Given the description of an element on the screen output the (x, y) to click on. 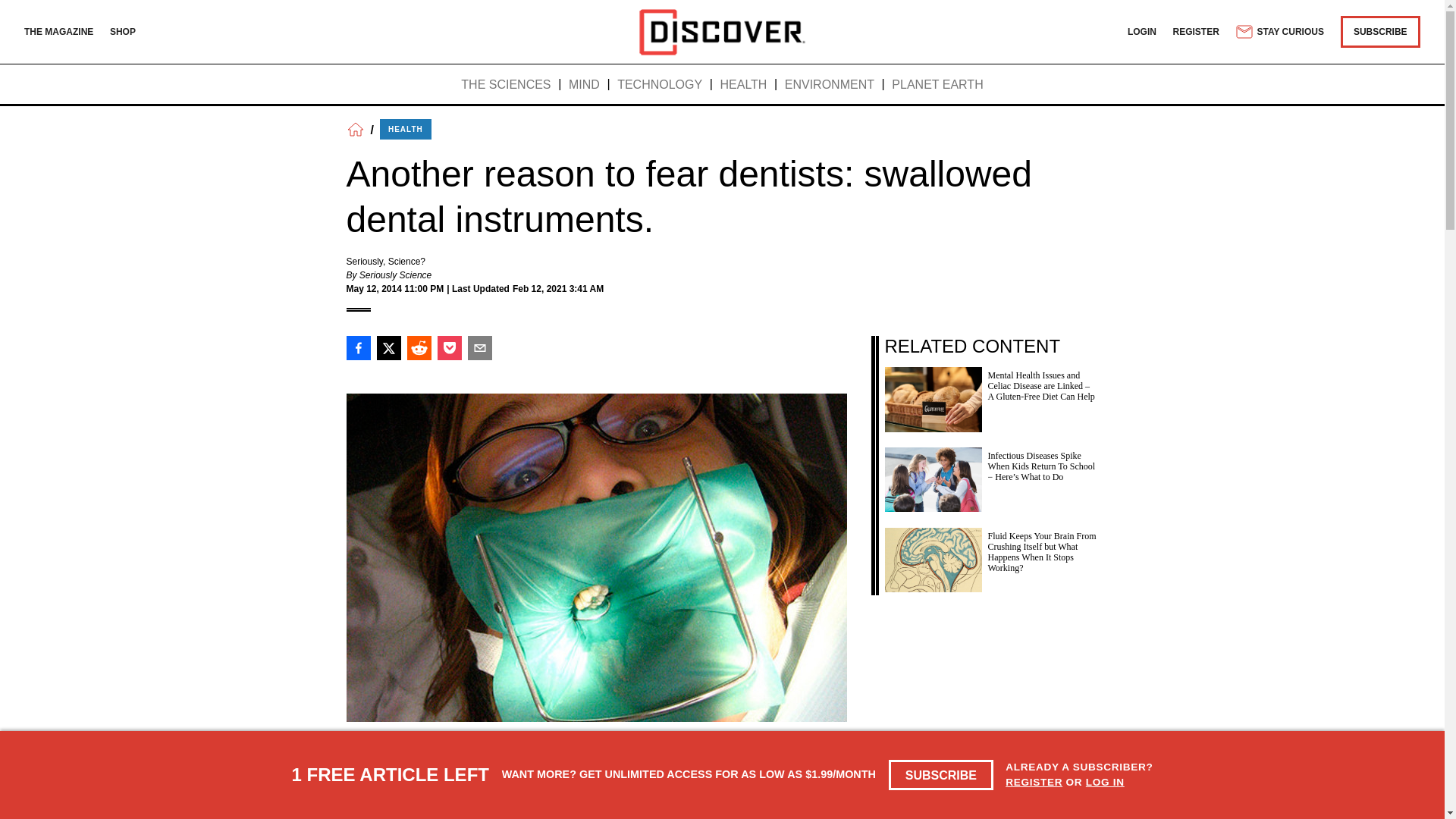
THE MAGAZINE (58, 31)
Seriously, Science? (385, 261)
SUBSCRIBE (941, 775)
TECHNOLOGY (659, 84)
SHOP (122, 31)
REGISTER (1196, 31)
SUBSCRIBE (1380, 31)
HEALTH (405, 128)
MIND (584, 84)
LOGIN (1141, 31)
